Given the description of an element on the screen output the (x, y) to click on. 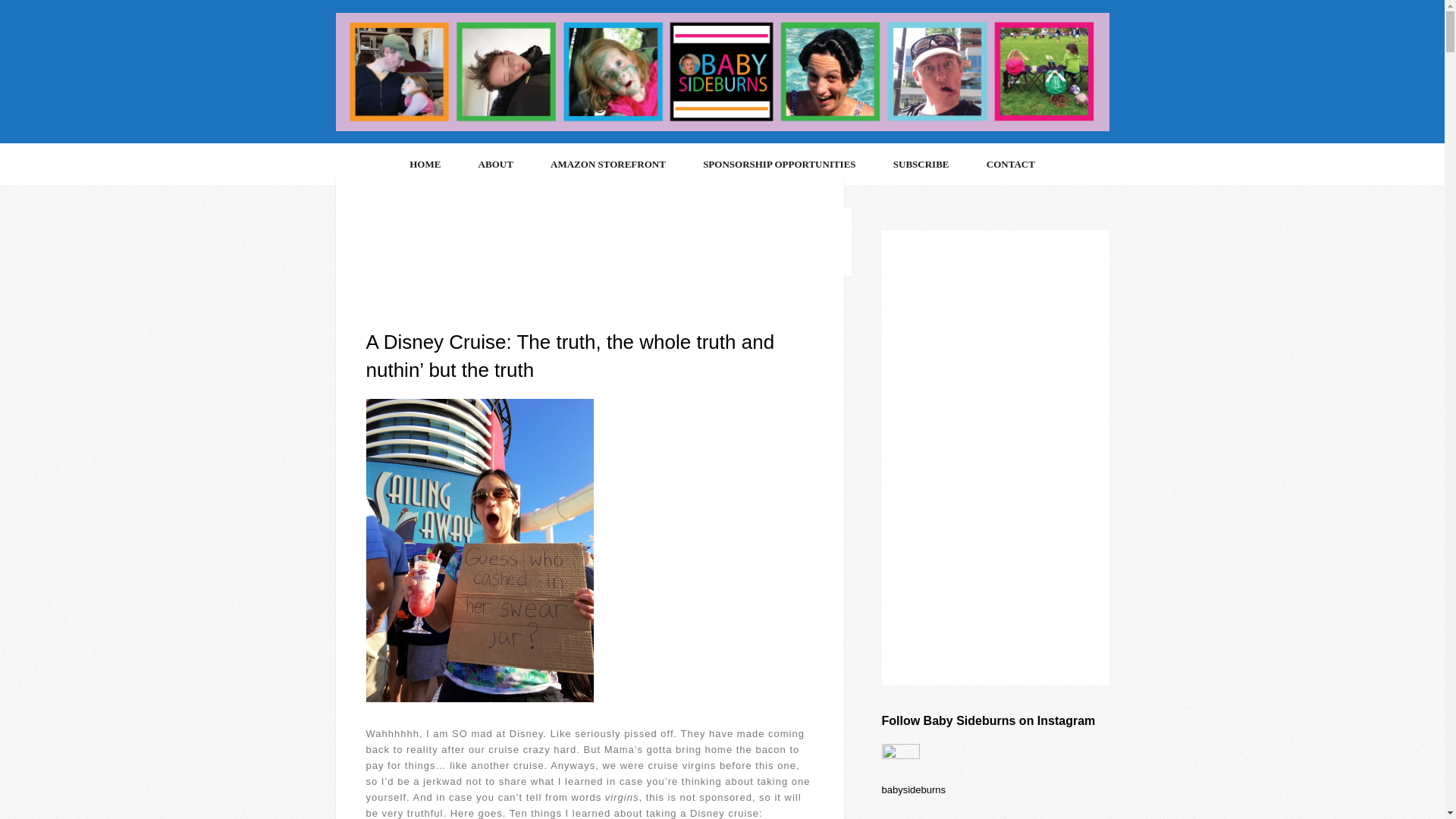
AMAZON STOREFRONT (607, 164)
ABOUT (496, 164)
SUBSCRIBE (921, 164)
CONTACT (1010, 164)
HOME (424, 164)
Baby Sideburns (721, 127)
SPONSORSHIP OPPORTUNITIES (778, 164)
